Given the description of an element on the screen output the (x, y) to click on. 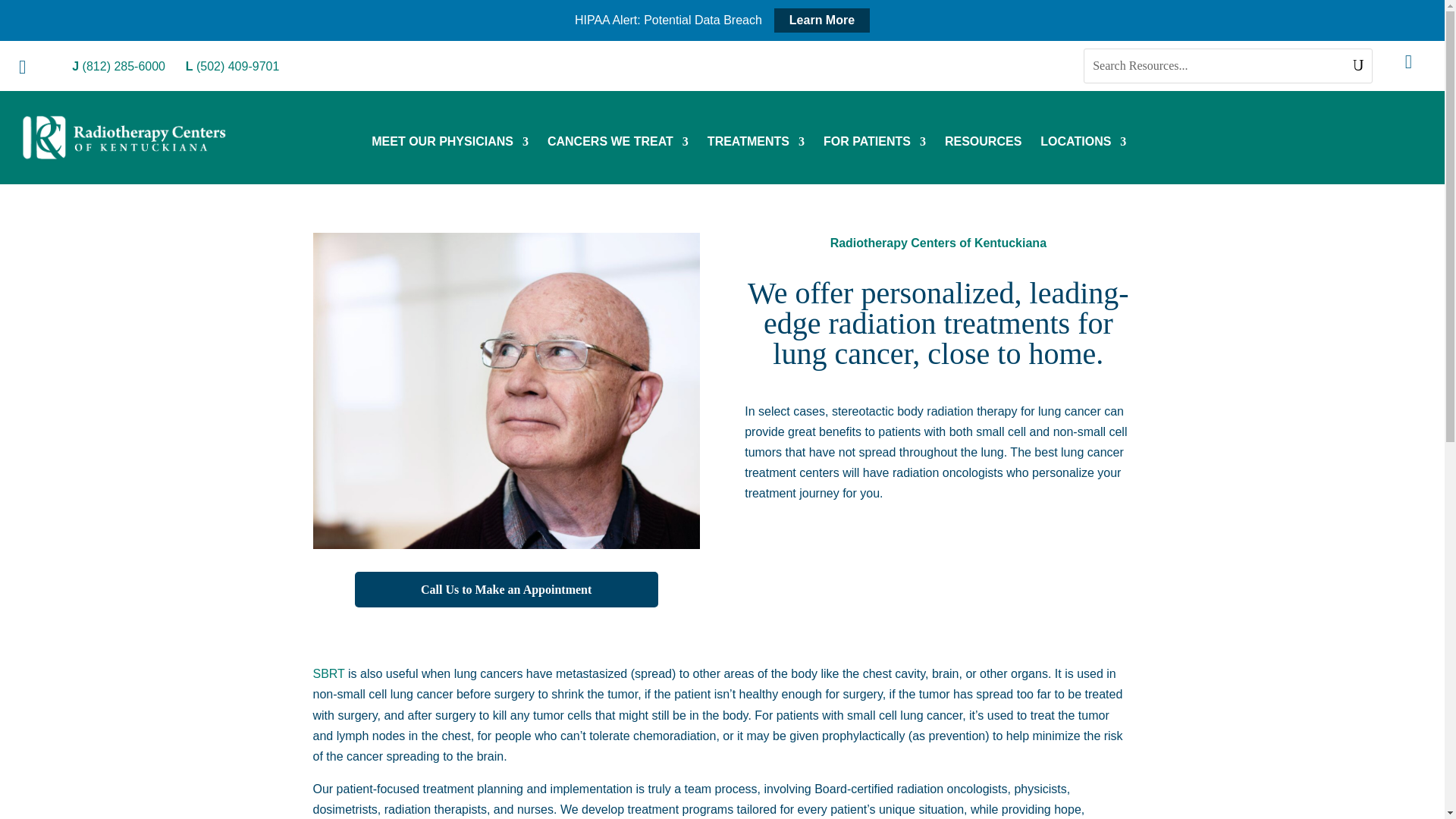
LOCATIONS (1083, 144)
FOR PATIENTS (875, 144)
Learn More (821, 20)
TREATMENTS (756, 144)
Search (25, 16)
RESOURCES (983, 144)
MEET OUR PHYSICIANS (449, 144)
CANCERS WE TREAT (617, 144)
